Given the description of an element on the screen output the (x, y) to click on. 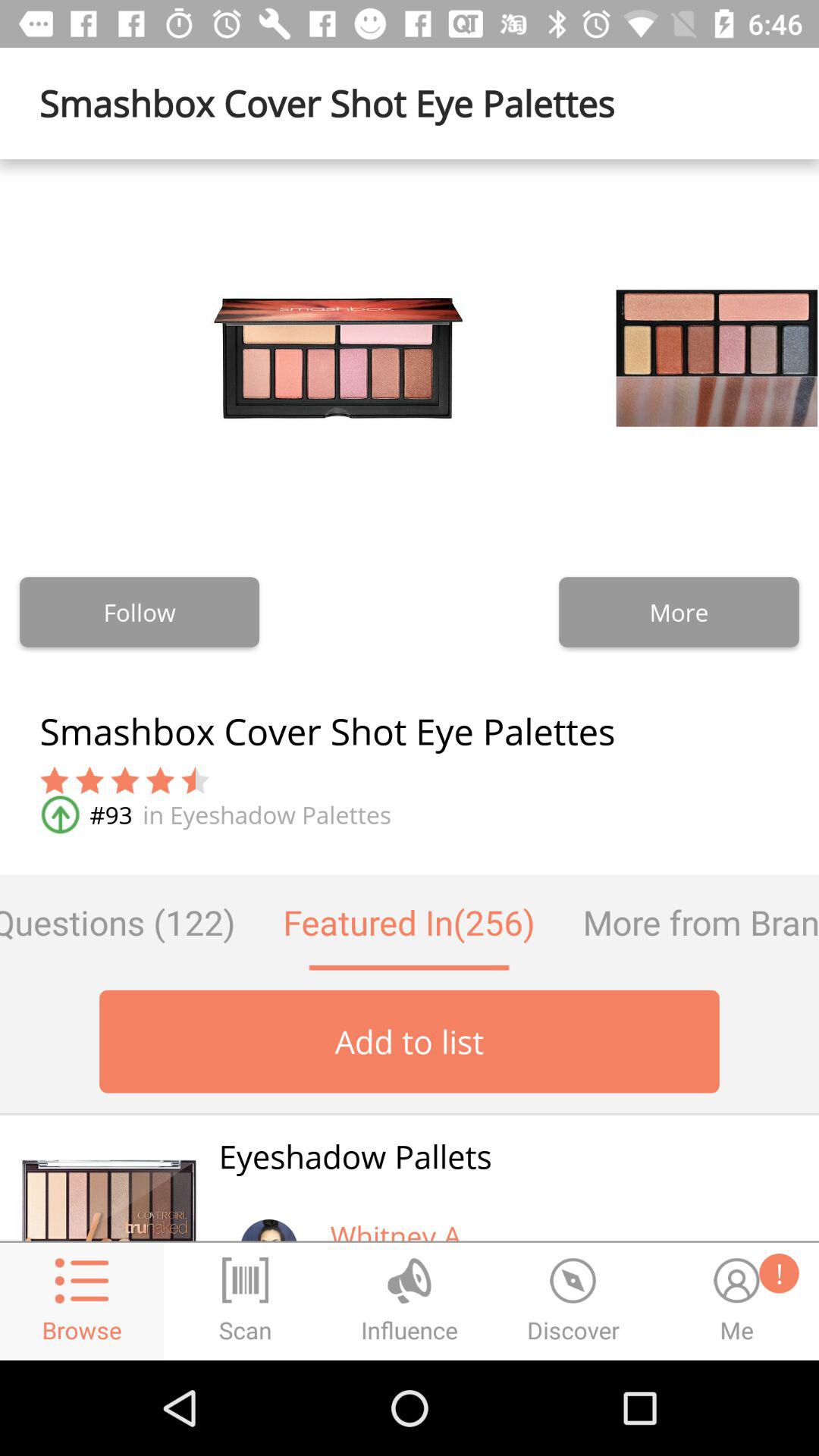
tap the item above the add to list item (689, 922)
